Given the description of an element on the screen output the (x, y) to click on. 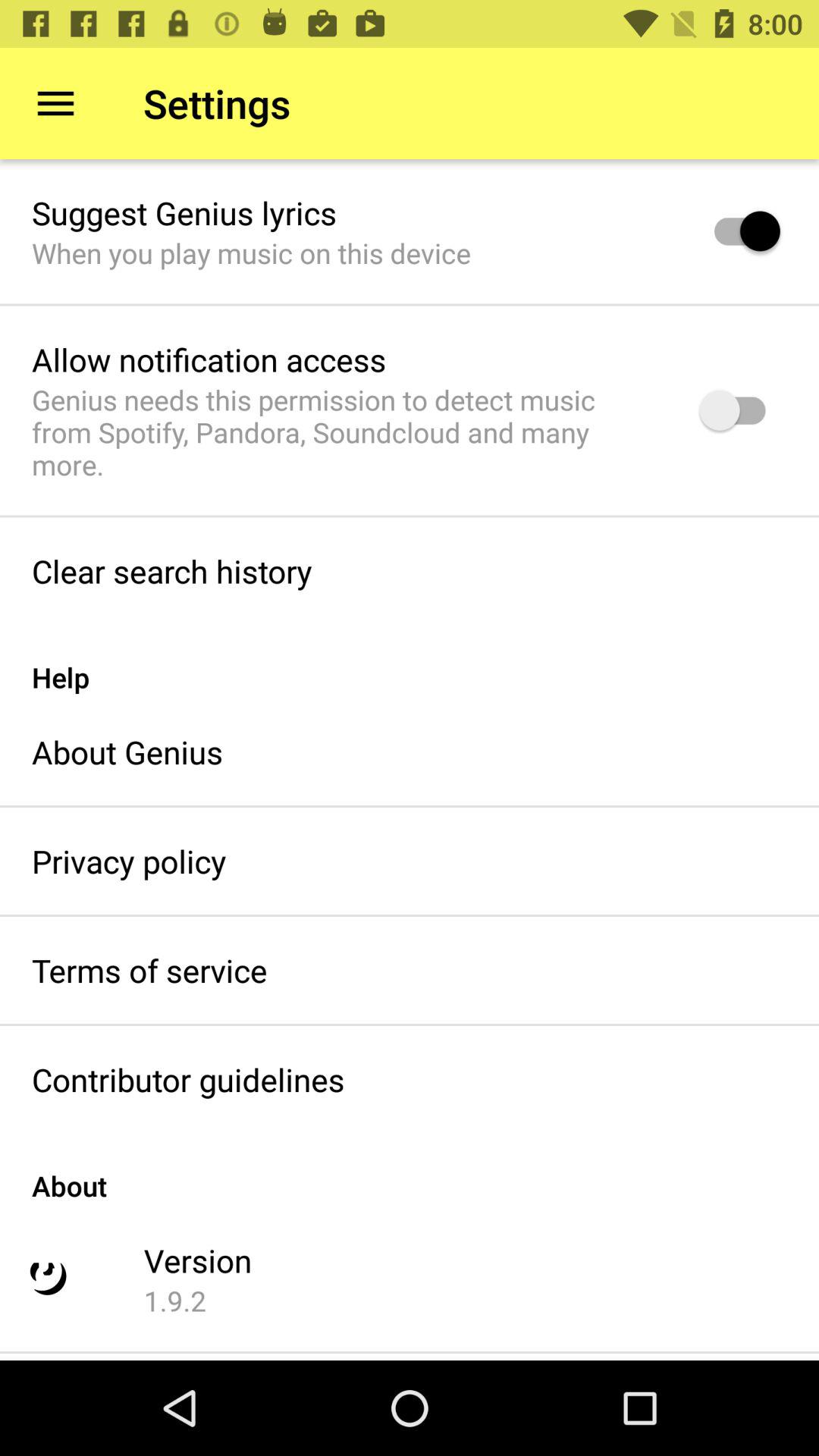
choose the icon below allow notification access icon (345, 432)
